Given the description of an element on the screen output the (x, y) to click on. 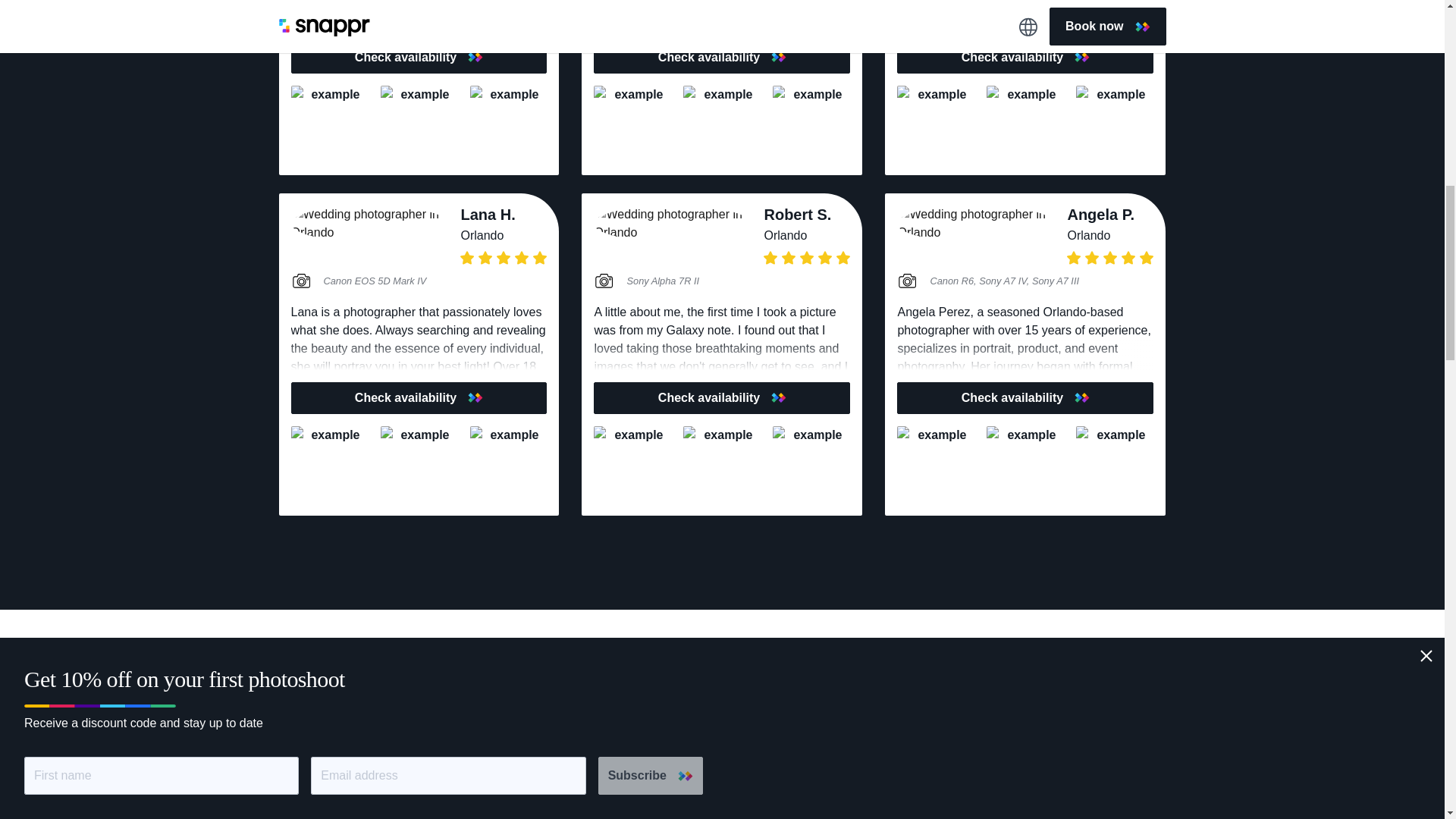
Check availability (1024, 398)
Check availability (419, 398)
Check availability (1024, 57)
Check availability (722, 57)
Check availability (722, 398)
Check availability (419, 57)
